Given the description of an element on the screen output the (x, y) to click on. 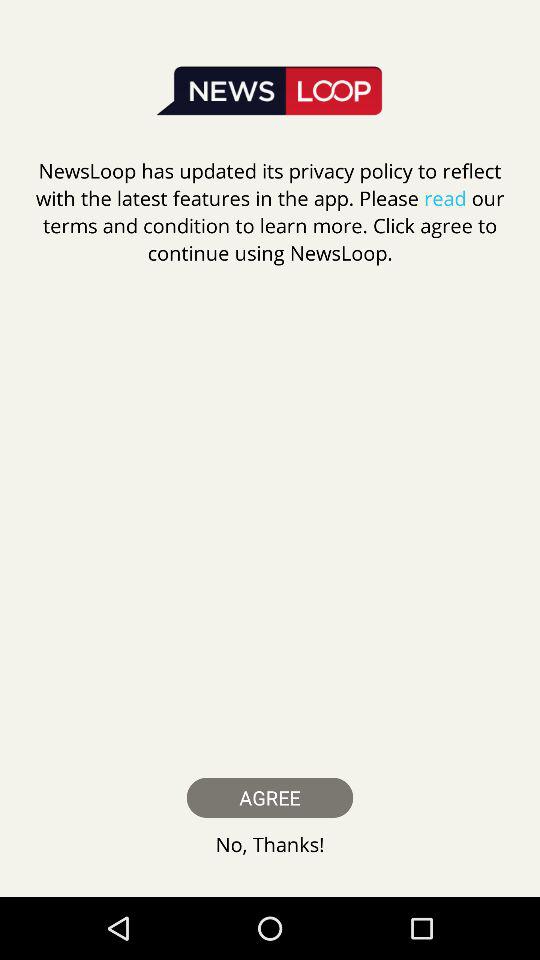
tap the no, thanks! icon (269, 844)
